Given the description of an element on the screen output the (x, y) to click on. 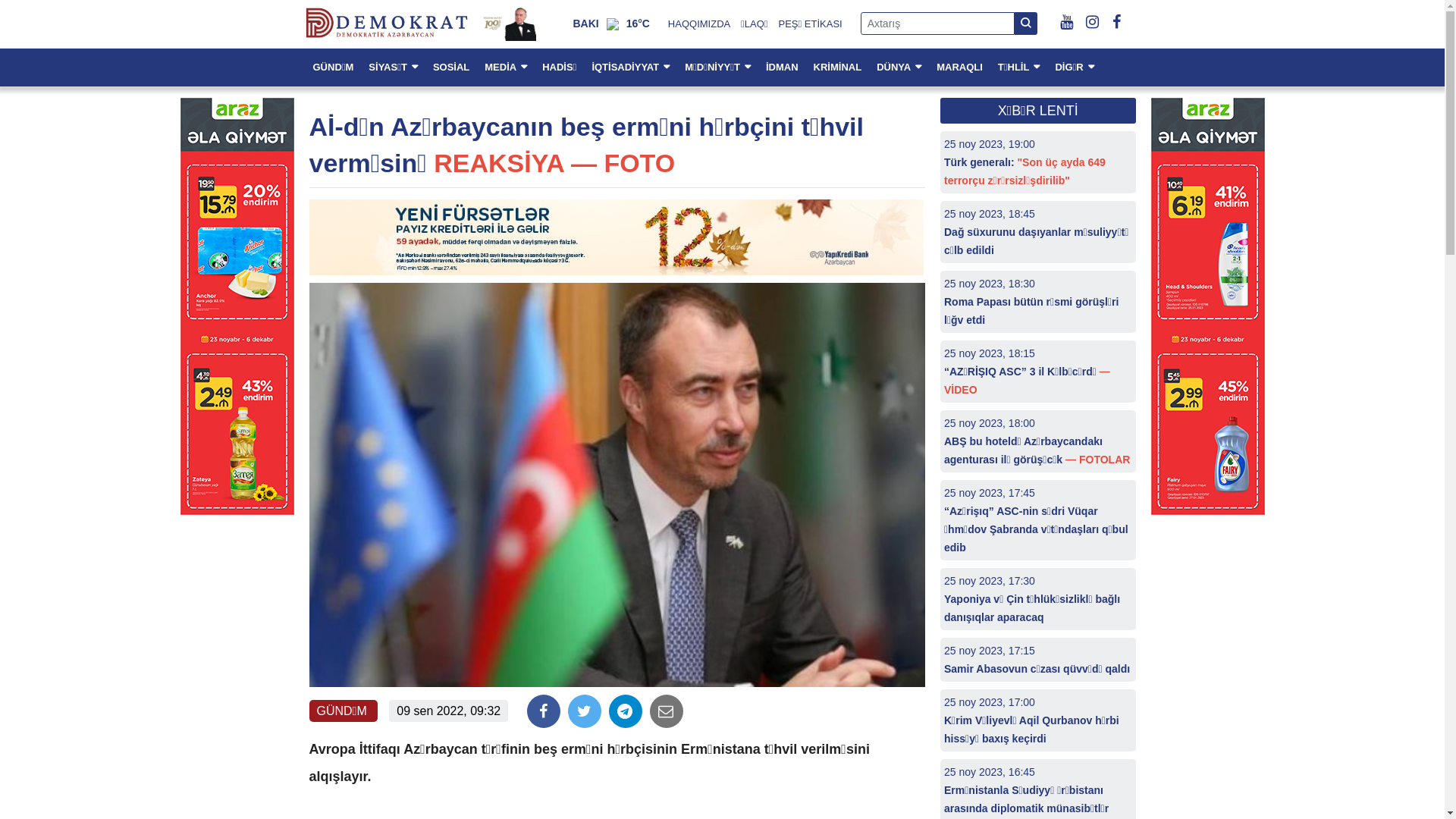
MARAQLI Element type: text (959, 67)
HAQQIMIZDA Element type: text (699, 23)
